Given the description of an element on the screen output the (x, y) to click on. 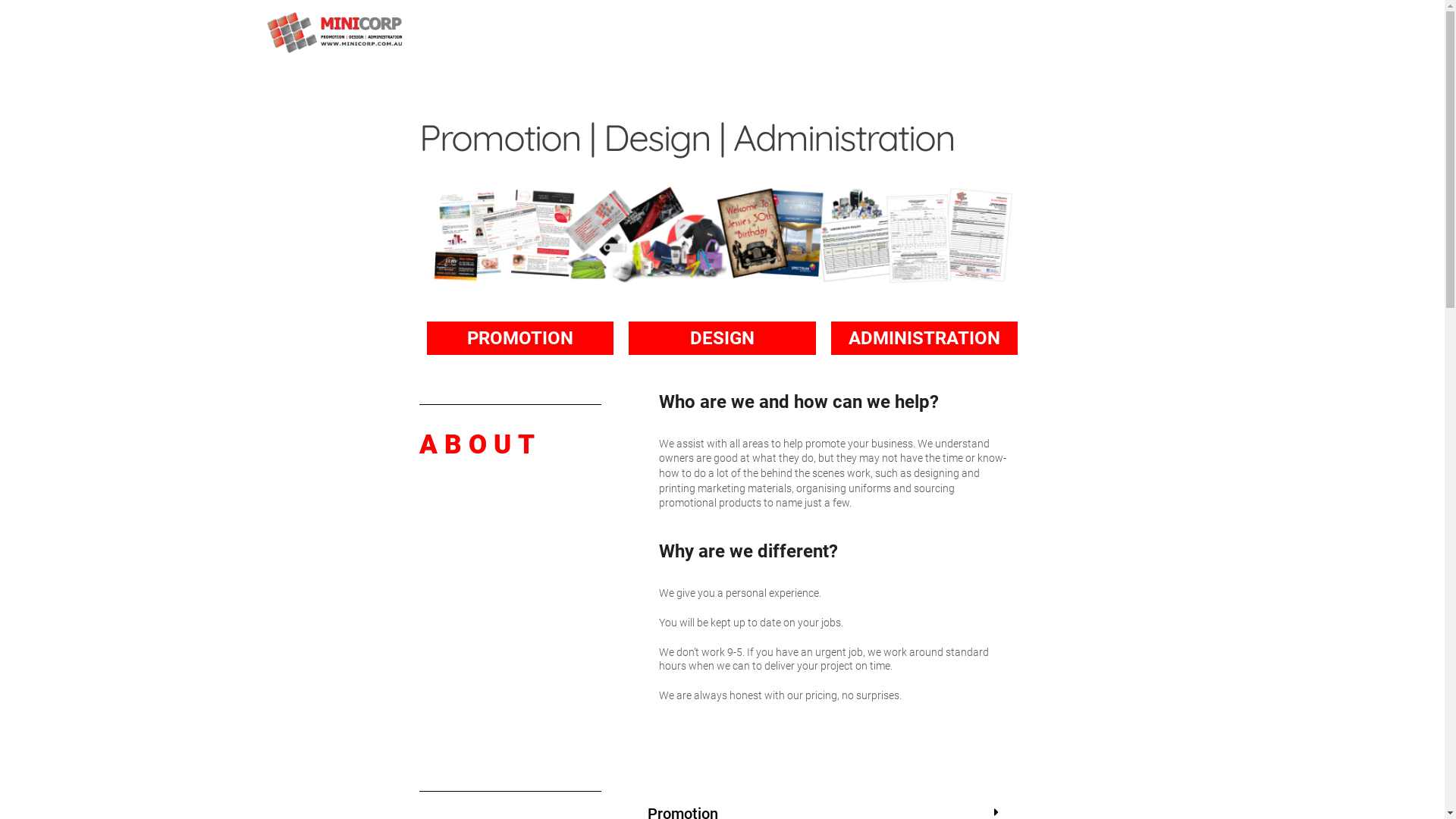
Minicorp | Promotion Design Administration Element type: text (546, 16)
PROMOTION Element type: text (520, 337)
DESIGN Element type: text (722, 337)
ADMINISTRATION Element type: text (924, 337)
